Given the description of an element on the screen output the (x, y) to click on. 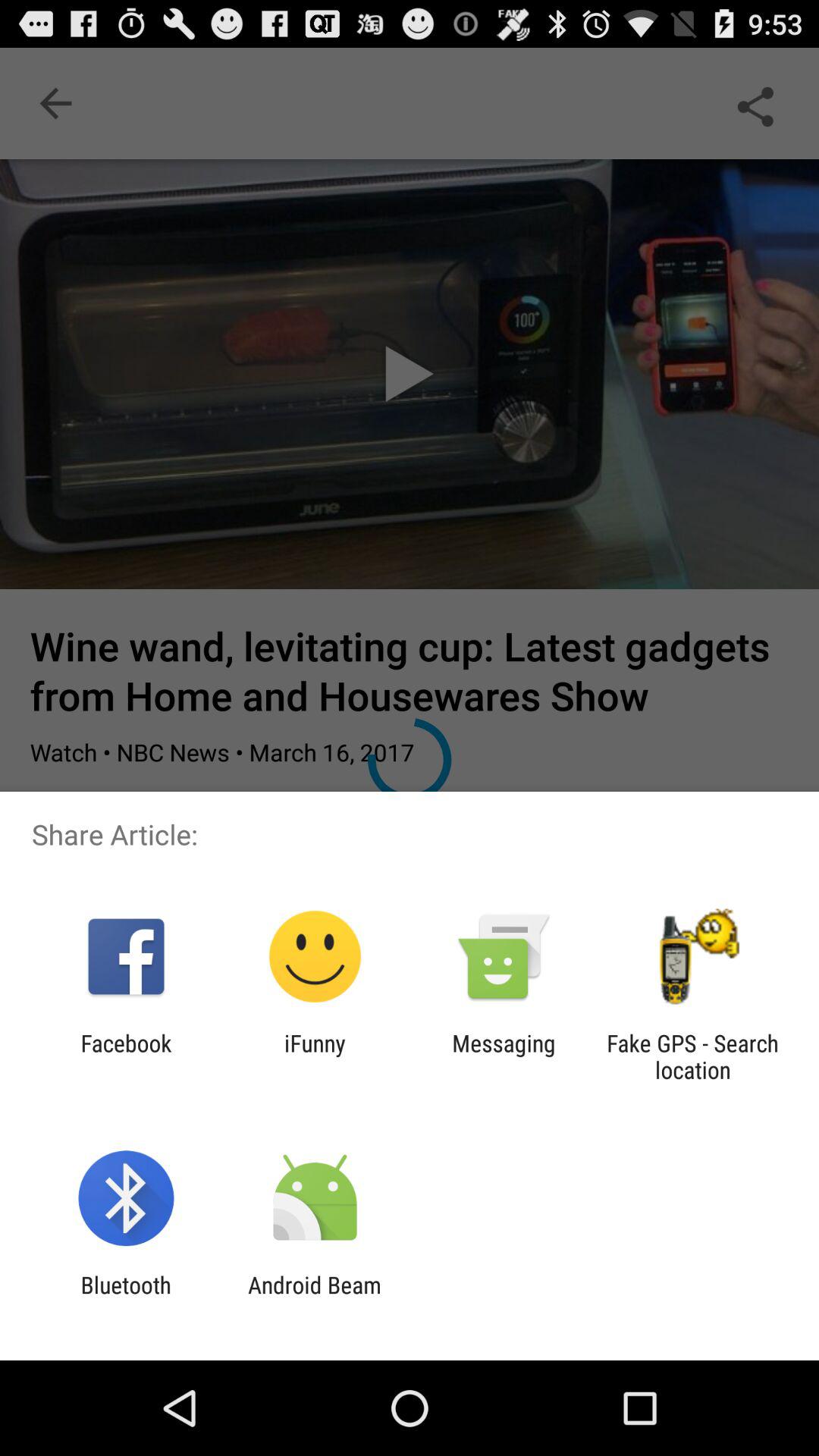
flip to ifunny icon (314, 1056)
